Given the description of an element on the screen output the (x, y) to click on. 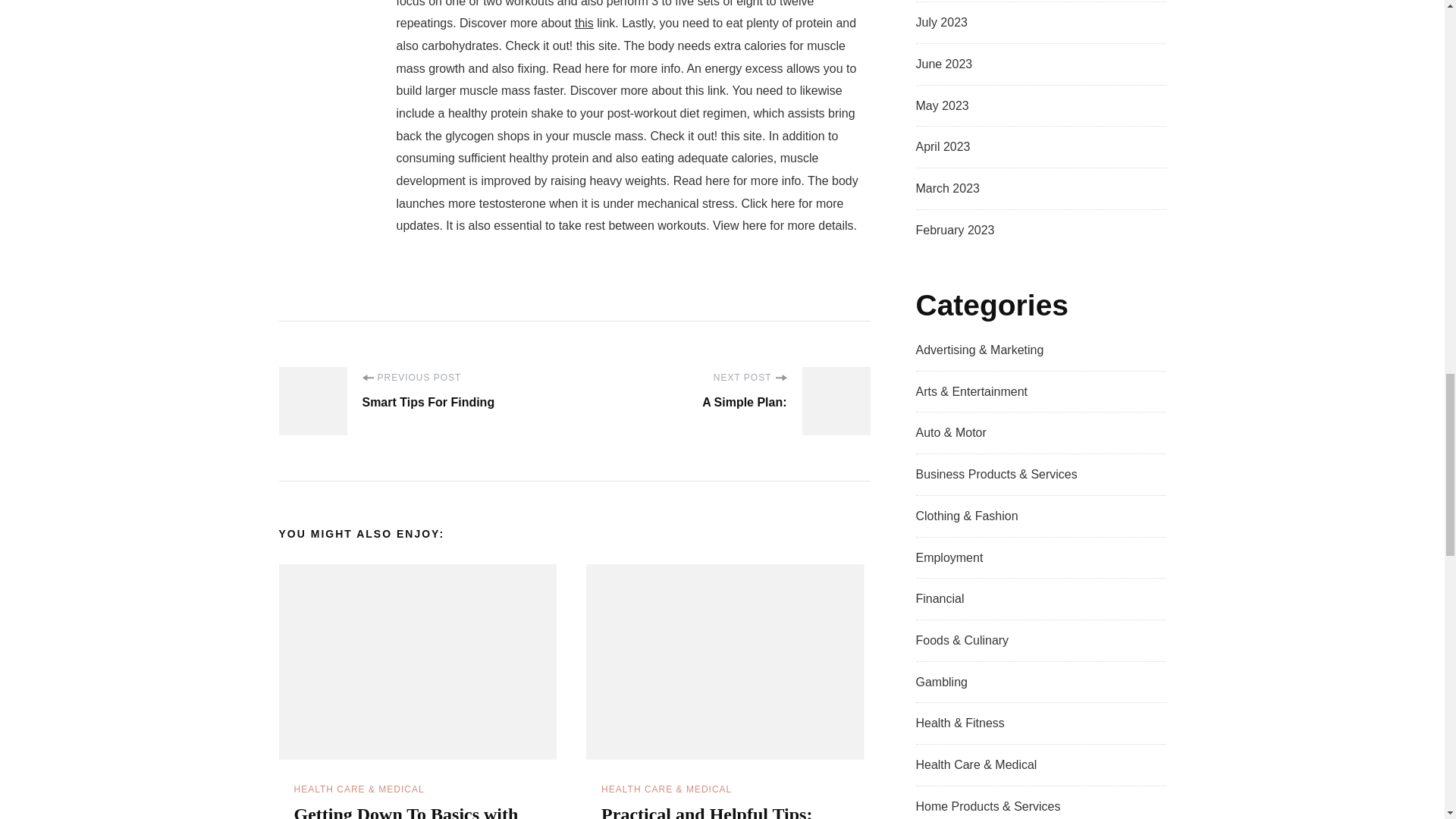
Getting Down To Basics with (406, 811)
Practical and Helpful Tips: (706, 811)
this (584, 22)
